Given the description of an element on the screen output the (x, y) to click on. 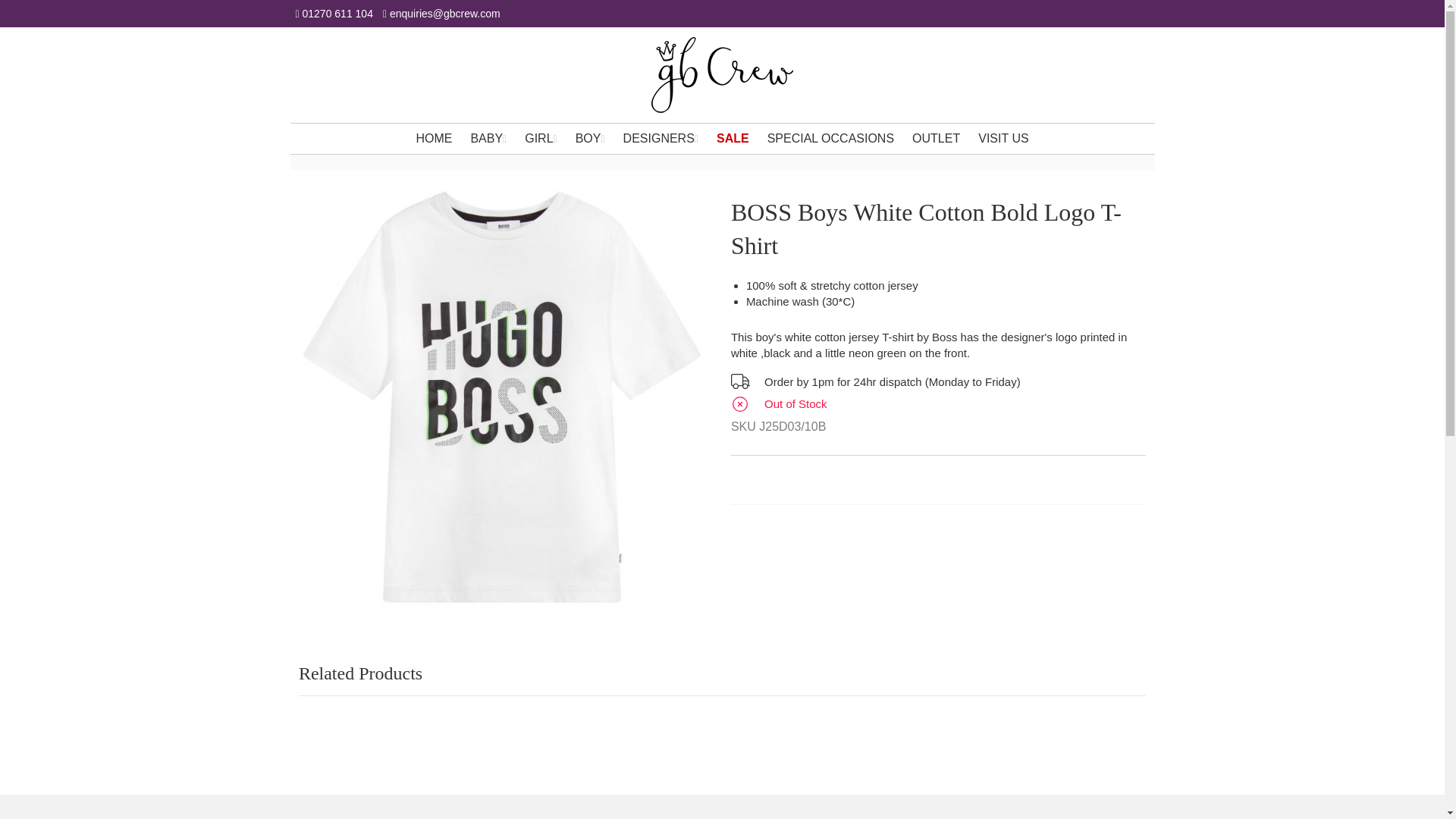
Availability (937, 407)
GIRL (540, 138)
01270 611 104 (333, 13)
HOME (433, 138)
gb crew (721, 74)
BABY (488, 138)
